Given the description of an element on the screen output the (x, y) to click on. 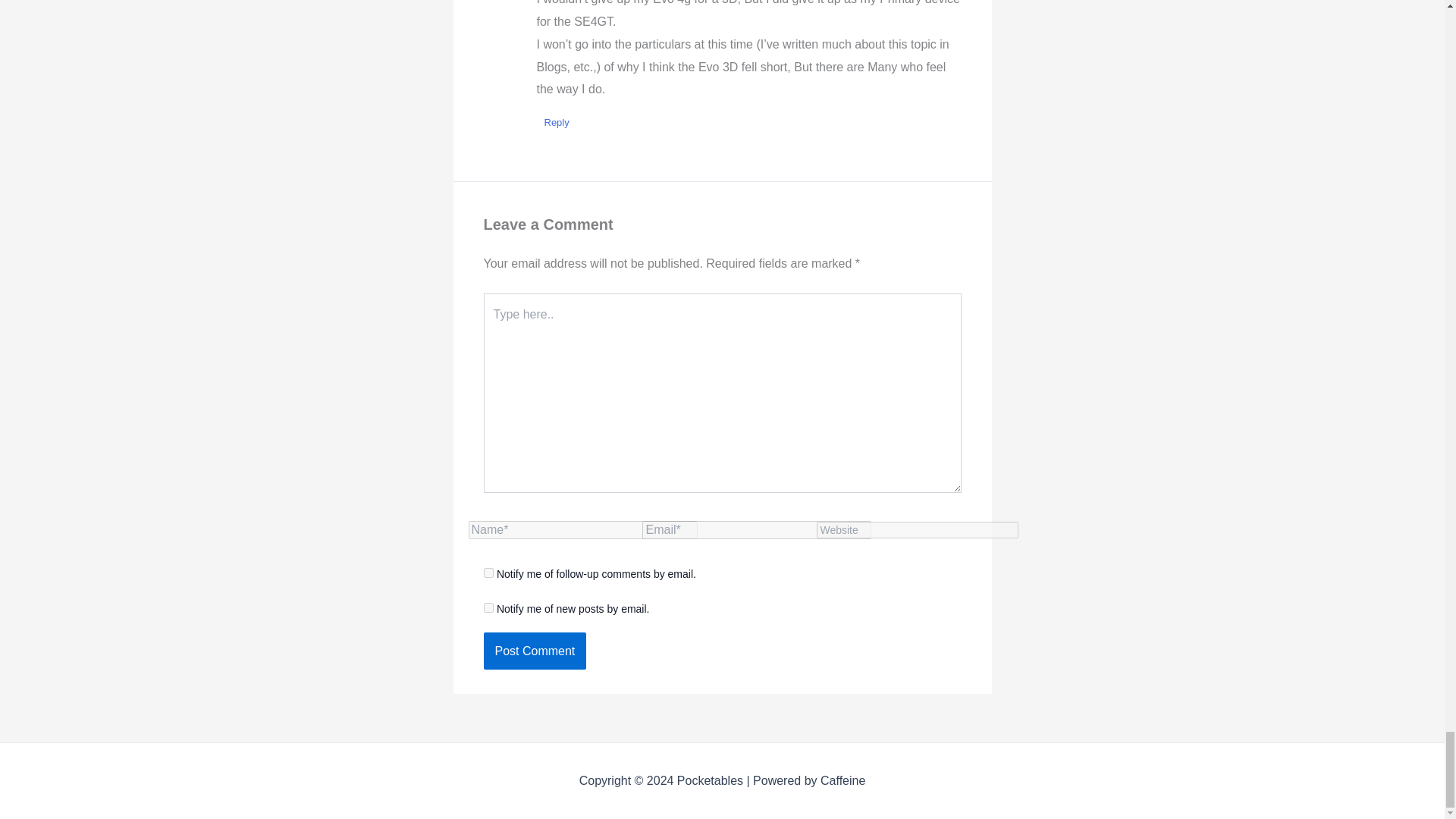
Post Comment (534, 651)
subscribe (488, 573)
subscribe (488, 607)
